Given the description of an element on the screen output the (x, y) to click on. 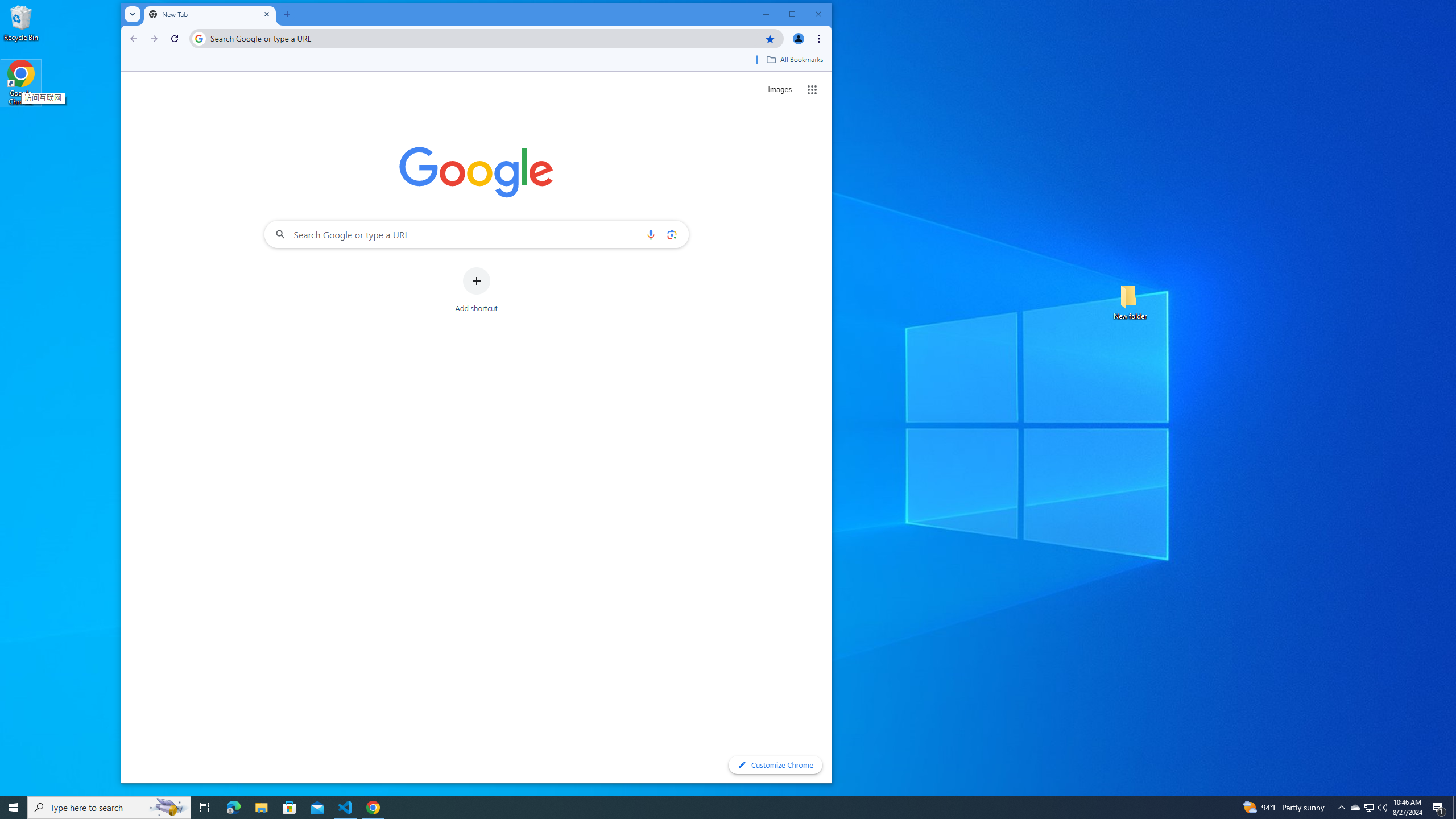
New folder (1130, 301)
Google Chrome (21, 82)
Recycle Bin (21, 22)
